Given the description of an element on the screen output the (x, y) to click on. 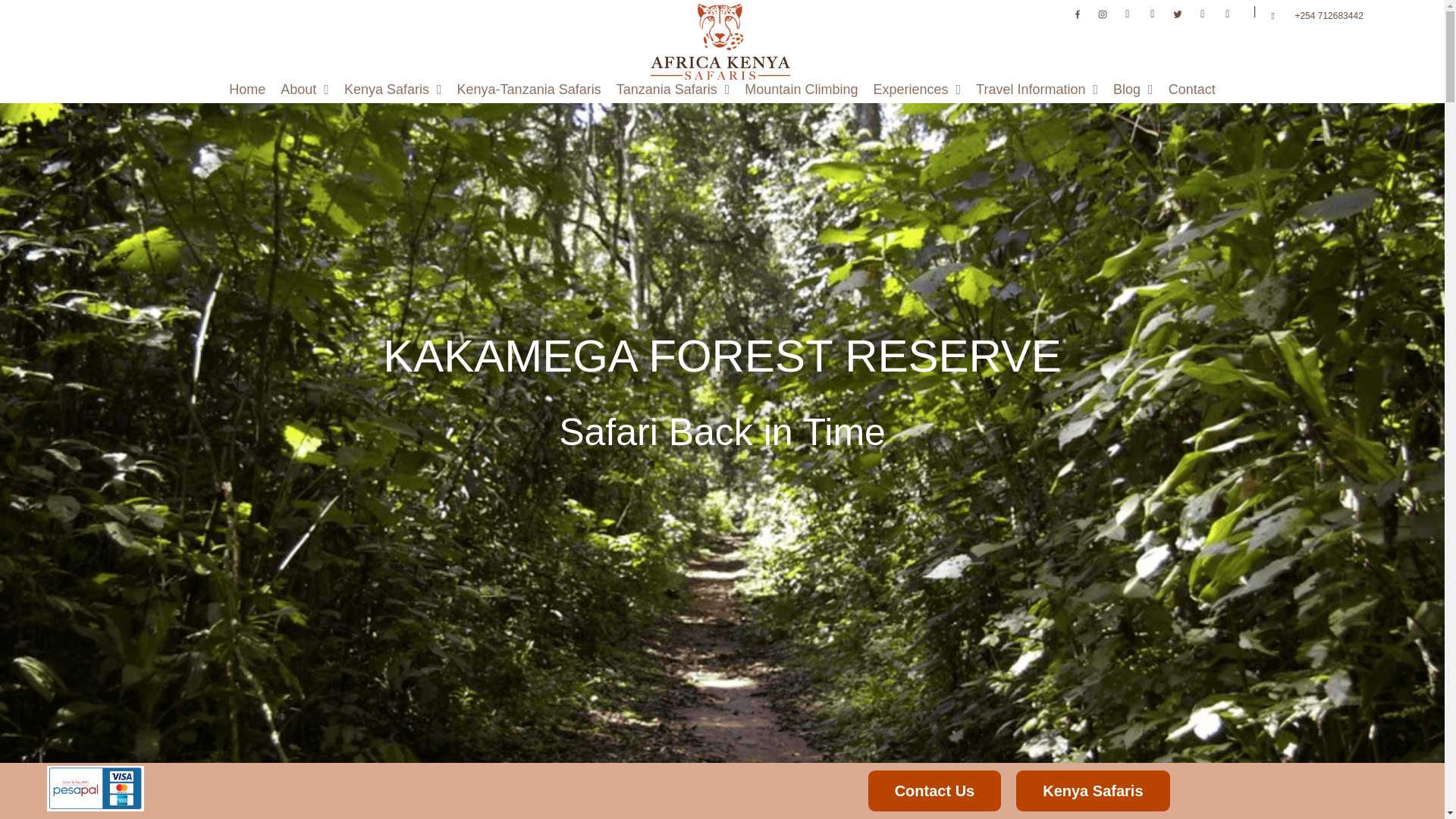
About (304, 89)
Facebook (1077, 14)
Linkedin (1202, 14)
Experiences (916, 89)
Pinterest (1228, 14)
Tanzania Safaris (673, 89)
Twitter (1177, 14)
Instagram (1102, 14)
Tripadvisor (1127, 14)
Kenya-Tanzania Safaris (528, 89)
Mountain Climbing (800, 89)
Youtube (1152, 14)
Home (247, 89)
Kenya Safaris (392, 89)
